Given the description of an element on the screen output the (x, y) to click on. 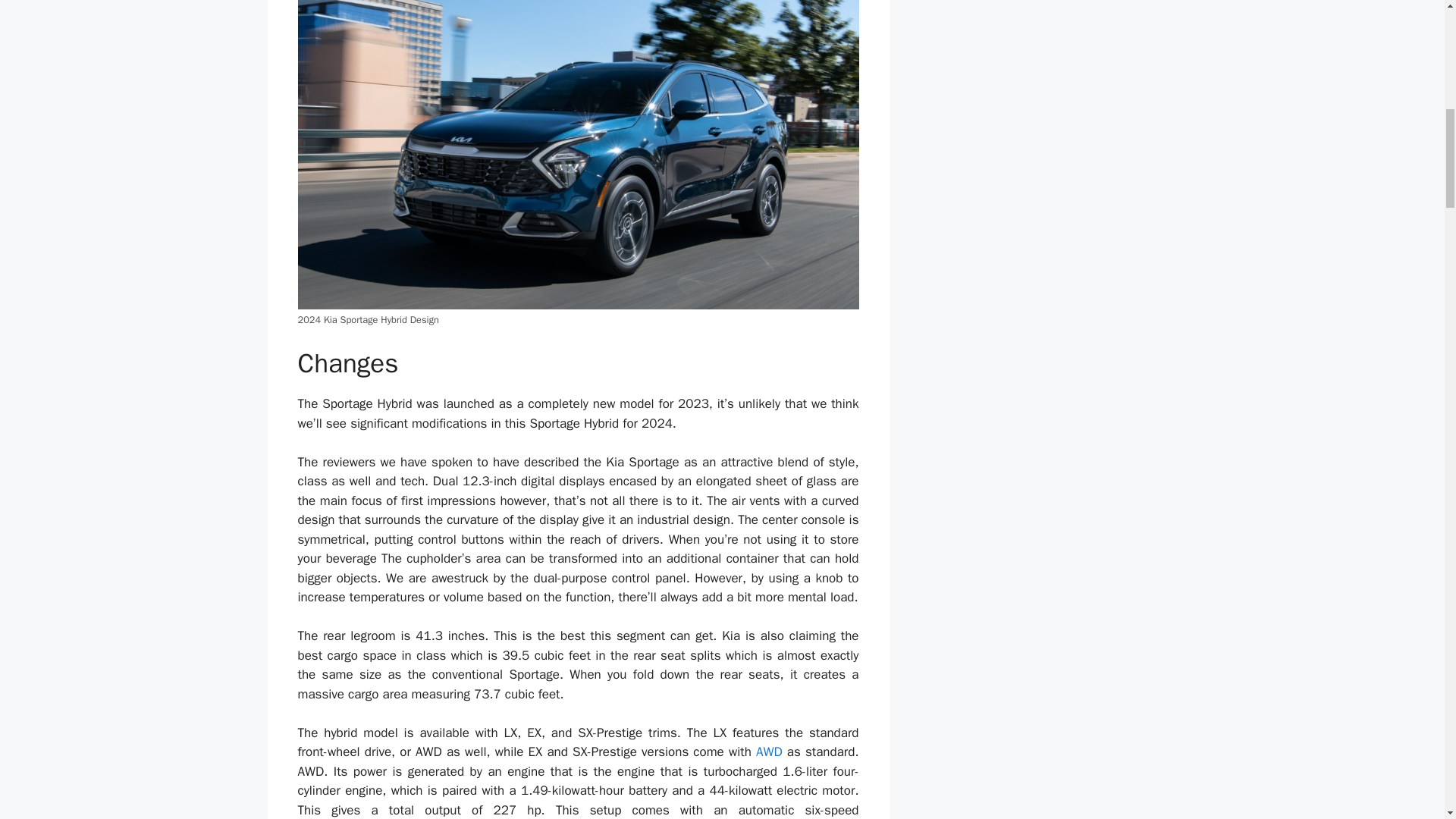
AWD (769, 751)
